Given the description of an element on the screen output the (x, y) to click on. 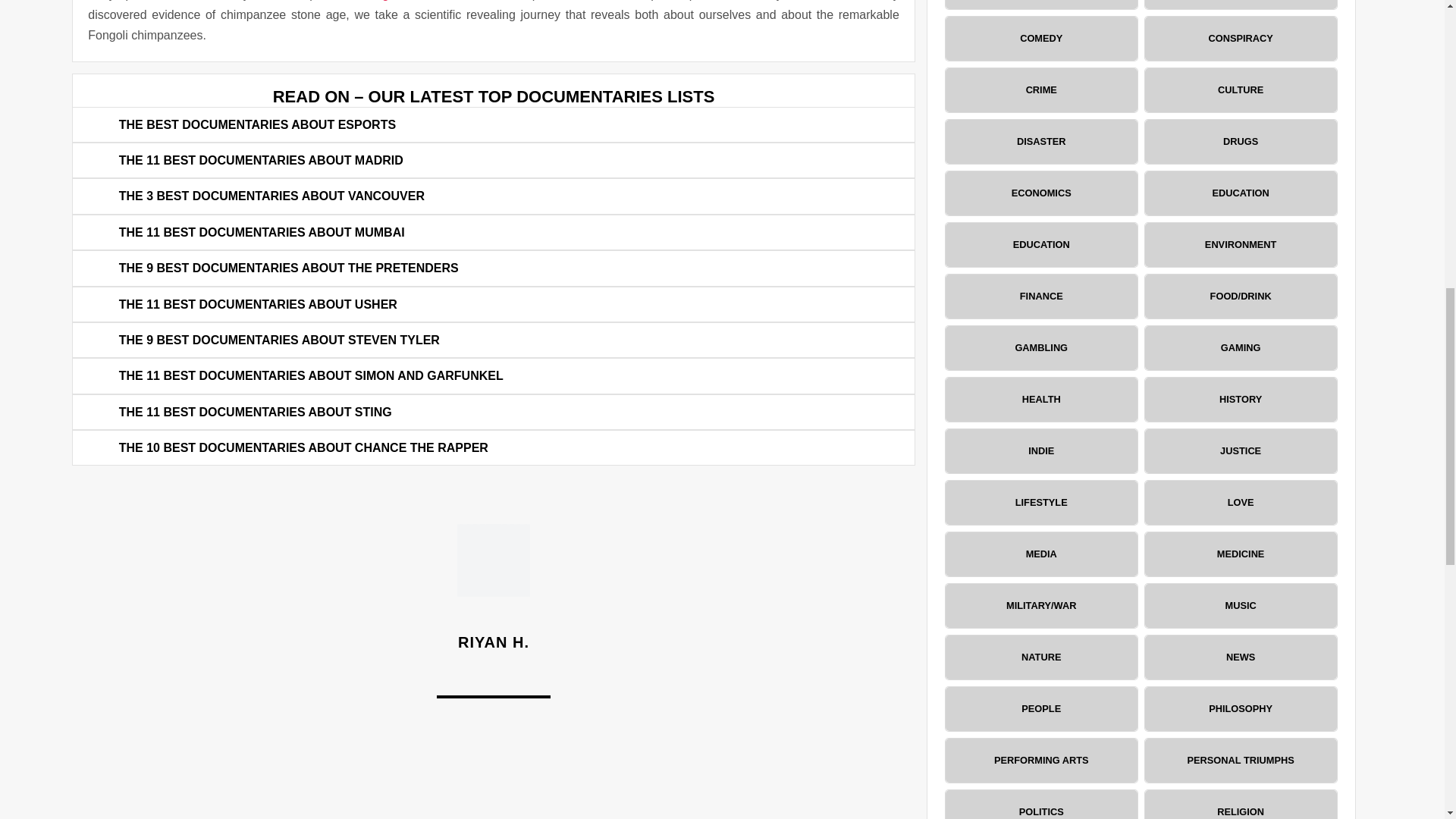
CULTURE (1240, 89)
ECONOMICS (1040, 193)
THE 9 BEST DOCUMENTARIES ABOUT THE PRETENDERS (288, 267)
BUSINESS (1040, 4)
CRIME (1040, 89)
THE 11 BEST DOCUMENTARIES ABOUT SIMON AND GARFUNKEL (311, 375)
THE 11 BEST DOCUMENTARIES ABOUT USHER (258, 304)
CONSPIRACY (1240, 38)
THE 11 BEST DOCUMENTARIES ABOUT MADRID (261, 160)
THE 3 BEST DOCUMENTARIES ABOUT VANCOUVER (272, 196)
